Given the description of an element on the screen output the (x, y) to click on. 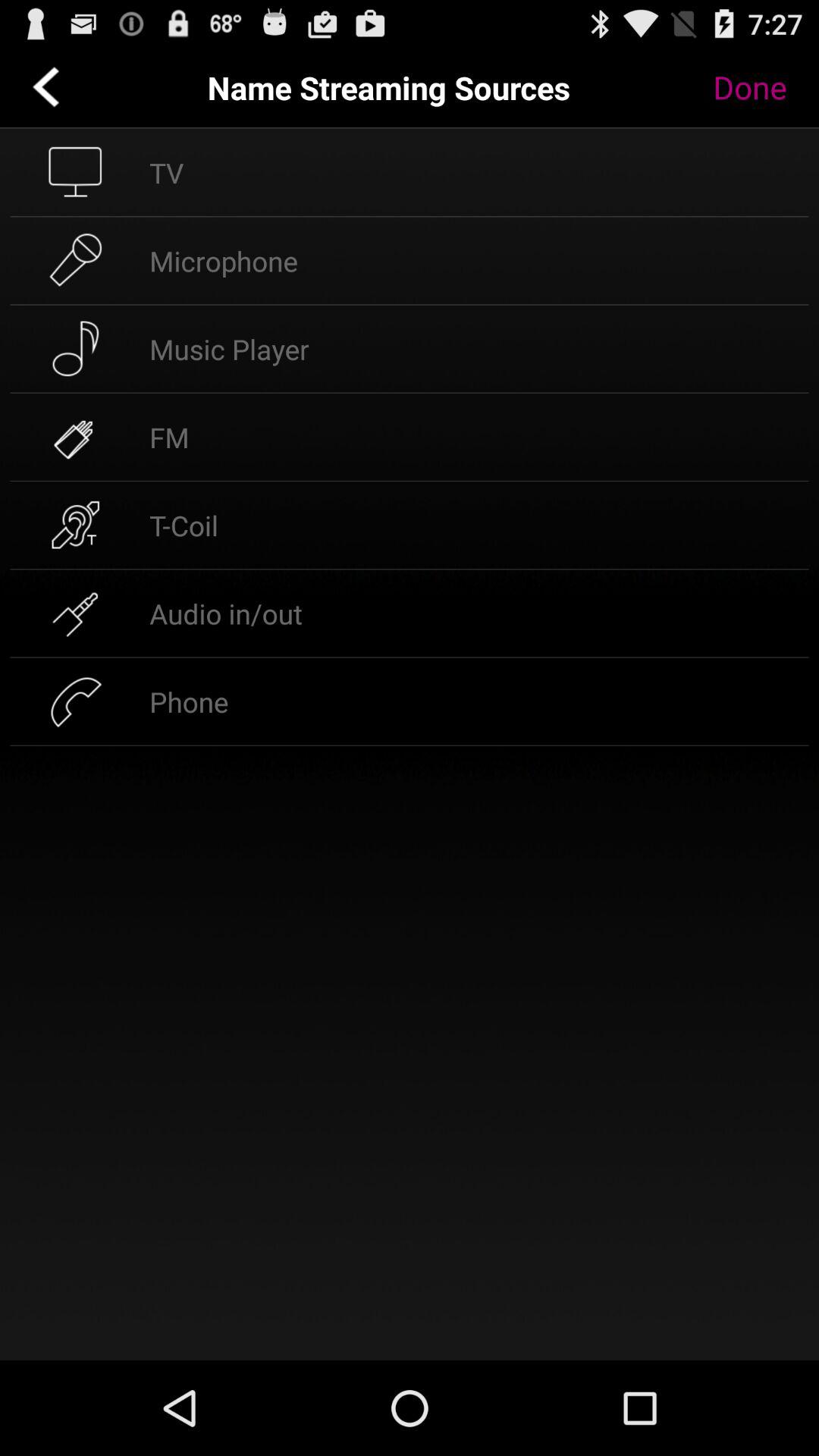
flip to done (760, 87)
